Given the description of an element on the screen output the (x, y) to click on. 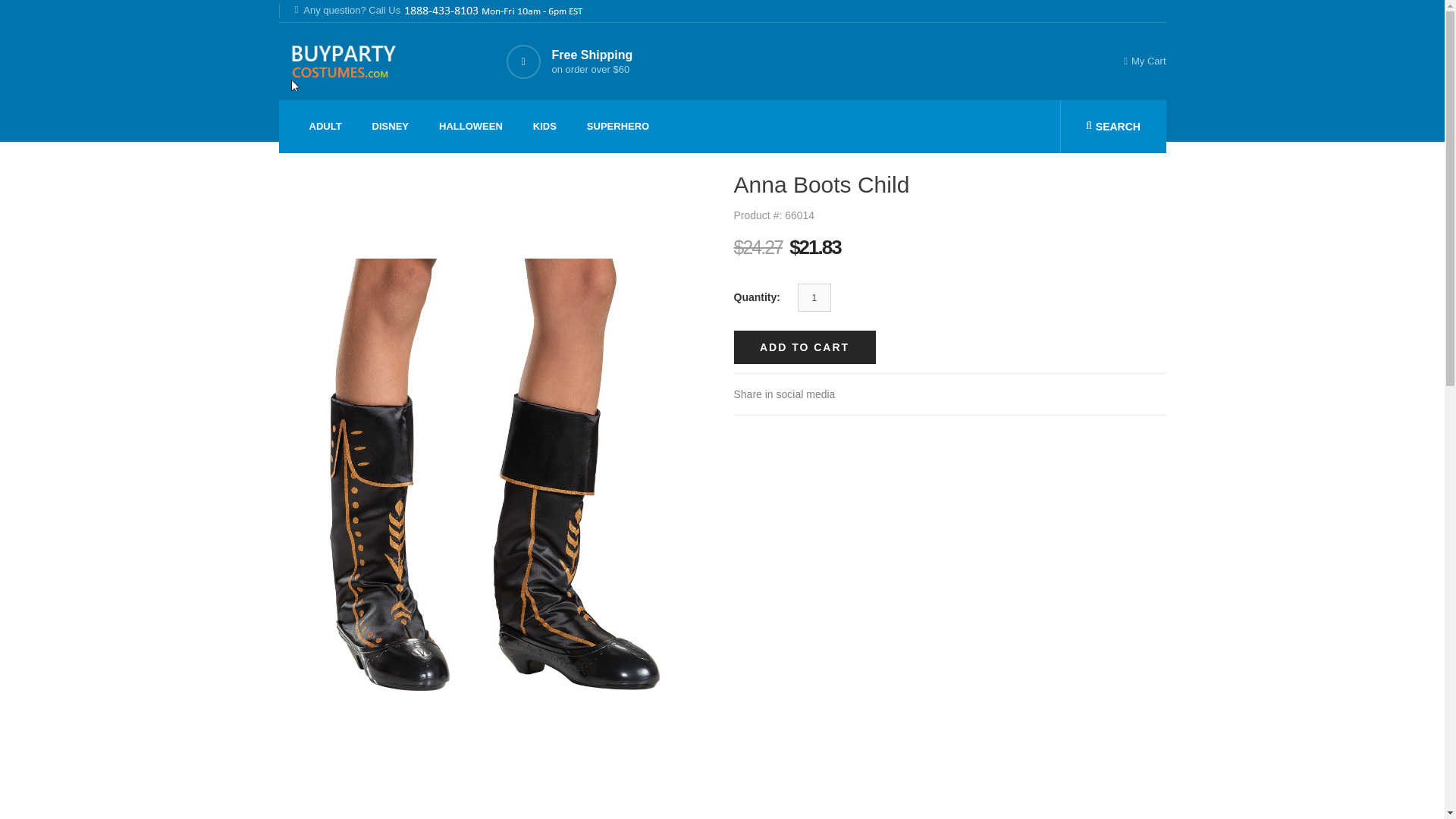
Halloween Costumes (470, 126)
My Cart (1139, 60)
ADD TO CART (804, 346)
Superhero Costumes (617, 126)
HALLOWEEN (470, 126)
SUPERHERO (617, 126)
1 (814, 297)
